Given the description of an element on the screen output the (x, y) to click on. 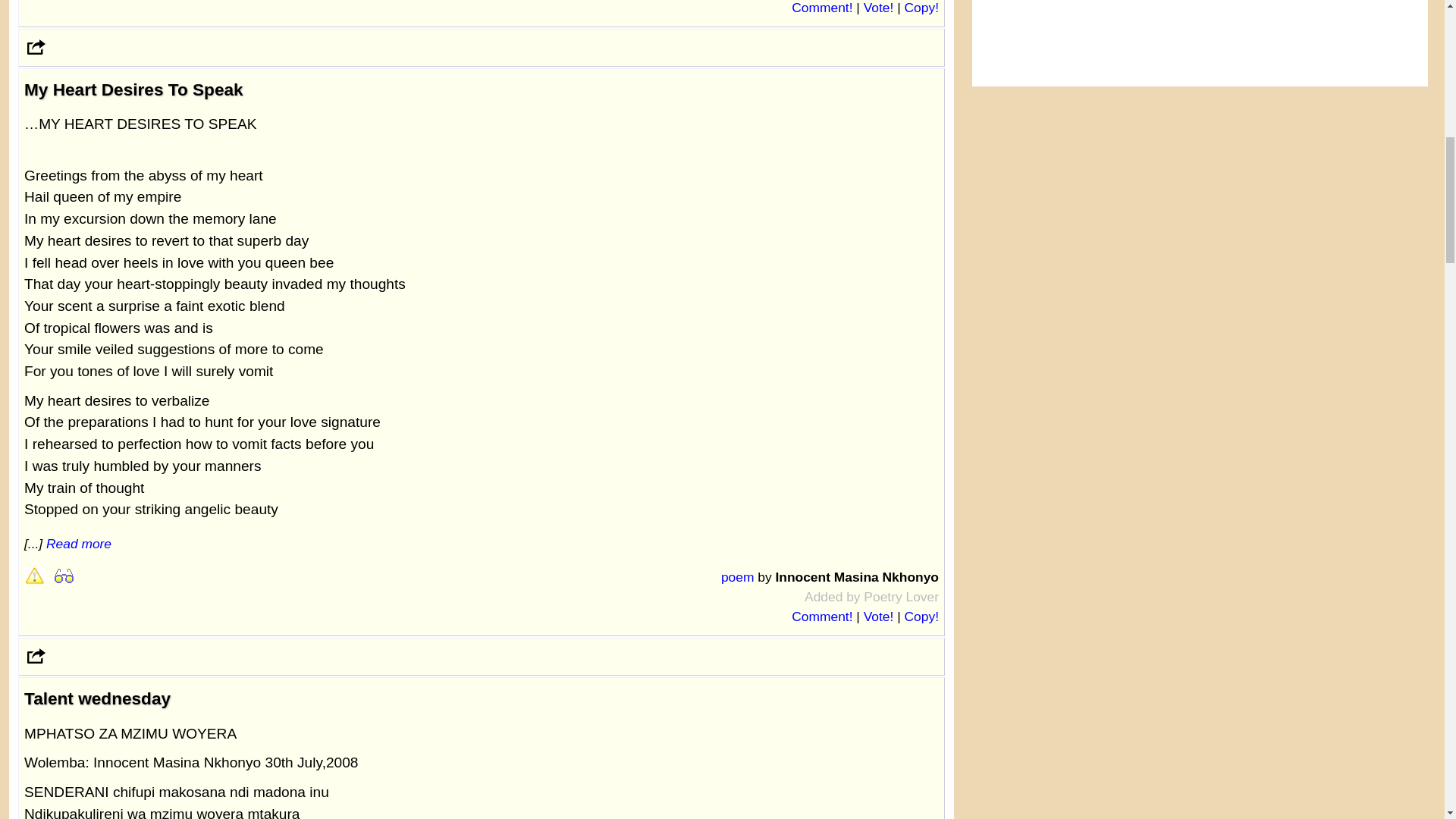
Copy! (921, 7)
Vote! (878, 7)
Comment! (821, 7)
Comment! (821, 616)
poem (737, 576)
Read more (79, 543)
Vote! (878, 616)
